Given the description of an element on the screen output the (x, y) to click on. 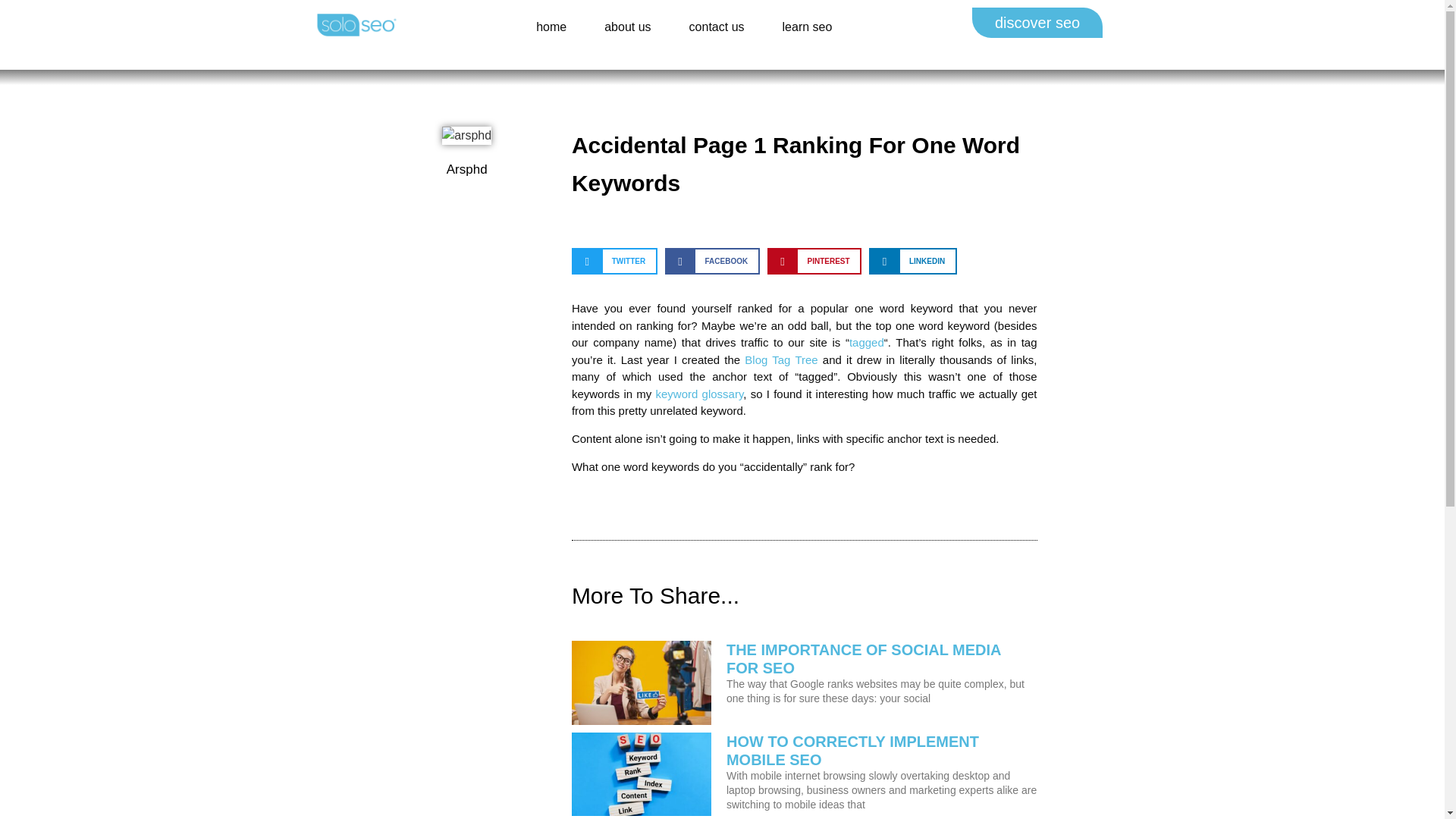
Blog Tag Tree (780, 359)
home (550, 26)
contact us (715, 26)
learn seo (806, 26)
THE IMPORTANCE OF SOCIAL MEDIA FOR SEO (863, 658)
HOW TO CORRECTLY IMPLEMENT MOBILE SEO (852, 750)
about us (627, 26)
keyword glossary (700, 393)
tagged (865, 341)
discover seo (1037, 22)
